Given the description of an element on the screen output the (x, y) to click on. 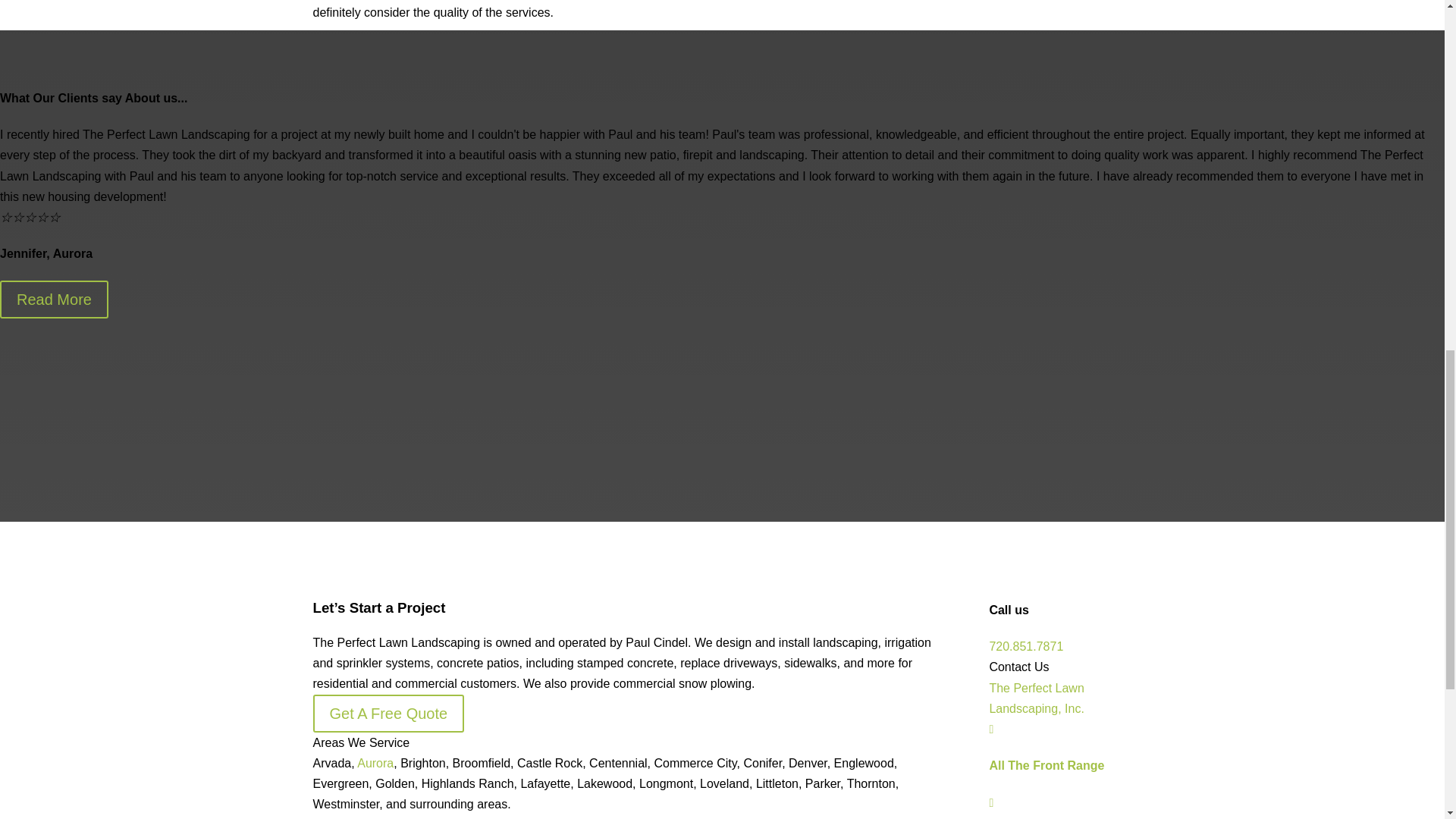
720.851.7871 (1025, 645)
Aurora (374, 762)
Get A Free Quote (388, 713)
The Perfect Lawn Landscaping, Inc. (1035, 697)
All The Front Range (1045, 765)
Read More (53, 299)
